Given the description of an element on the screen output the (x, y) to click on. 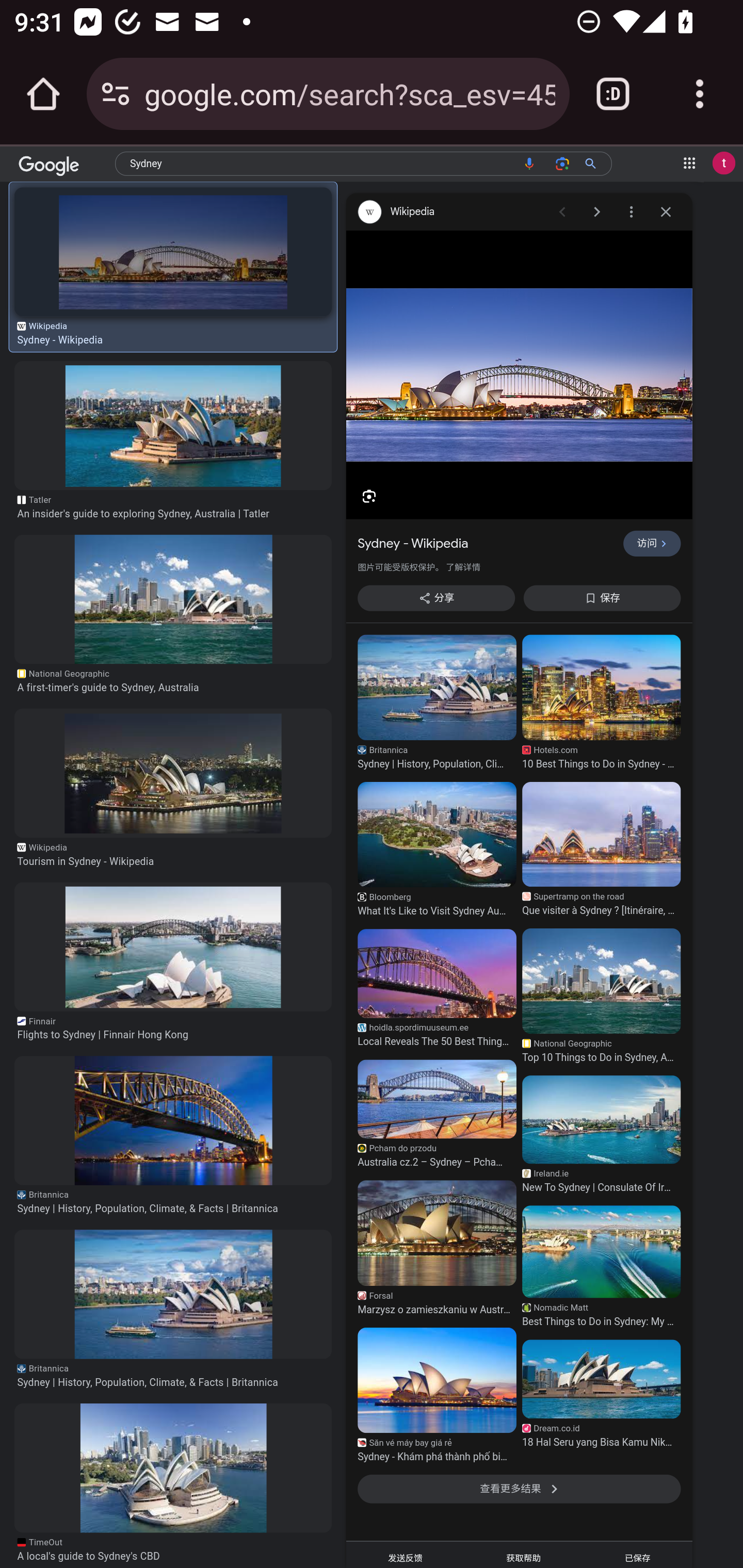
Open the home page (43, 93)
Connection is secure (115, 93)
Switch or close tabs (612, 93)
Customize and control Google Chrome (699, 93)
下一个 (690, 163)
Sydney - Wikipedia (173, 251)
上一张图片 (561, 212)
下一张图片 (596, 212)
关于此结果的更多操作 (630, 212)
关闭 (665, 212)
Wikipedia (448, 212)
访问Wikipedia Sydney - Wikipedia (519, 375)
WikipediaSydney - Wikipedia (173, 333)
在图片内搜索 (368, 495)
Sydney - Wikipedia (484, 543)
访问 (651, 543)
A first-timer's guide to Sydney, Australia (173, 599)
详细了解版权 了解详情 (462, 567)
分享 (436, 597)
保存 (601, 597)
Tourism in Sydney - Wikipedia (173, 773)
WikipediaTourism in Sydney - Wikipedia (173, 855)
Flights to Sydney | Finnair Hong Kong (173, 946)
Top 10 Things to Do in Sydney, Australia (600, 981)
FinnairFlights to Sydney | Finnair Hong Kong (173, 1029)
Australia cz.2 – Sydney – Pcham do przodu (437, 1099)
Sydney - Khám phá thành phố biểu tượng của Úc (437, 1380)
18 Hal Seru yang Bisa Kamu Nikmati di Sydney (600, 1379)
A local's guide to Sydney's CBD (173, 1468)
查看更多相关内容 查看更多结果 (519, 1488)
TimeOutA local's guide to Sydney's CBD (173, 1549)
发送反馈 (404, 1554)
获取帮助 (523, 1554)
已保存 (637, 1554)
